Given the description of an element on the screen output the (x, y) to click on. 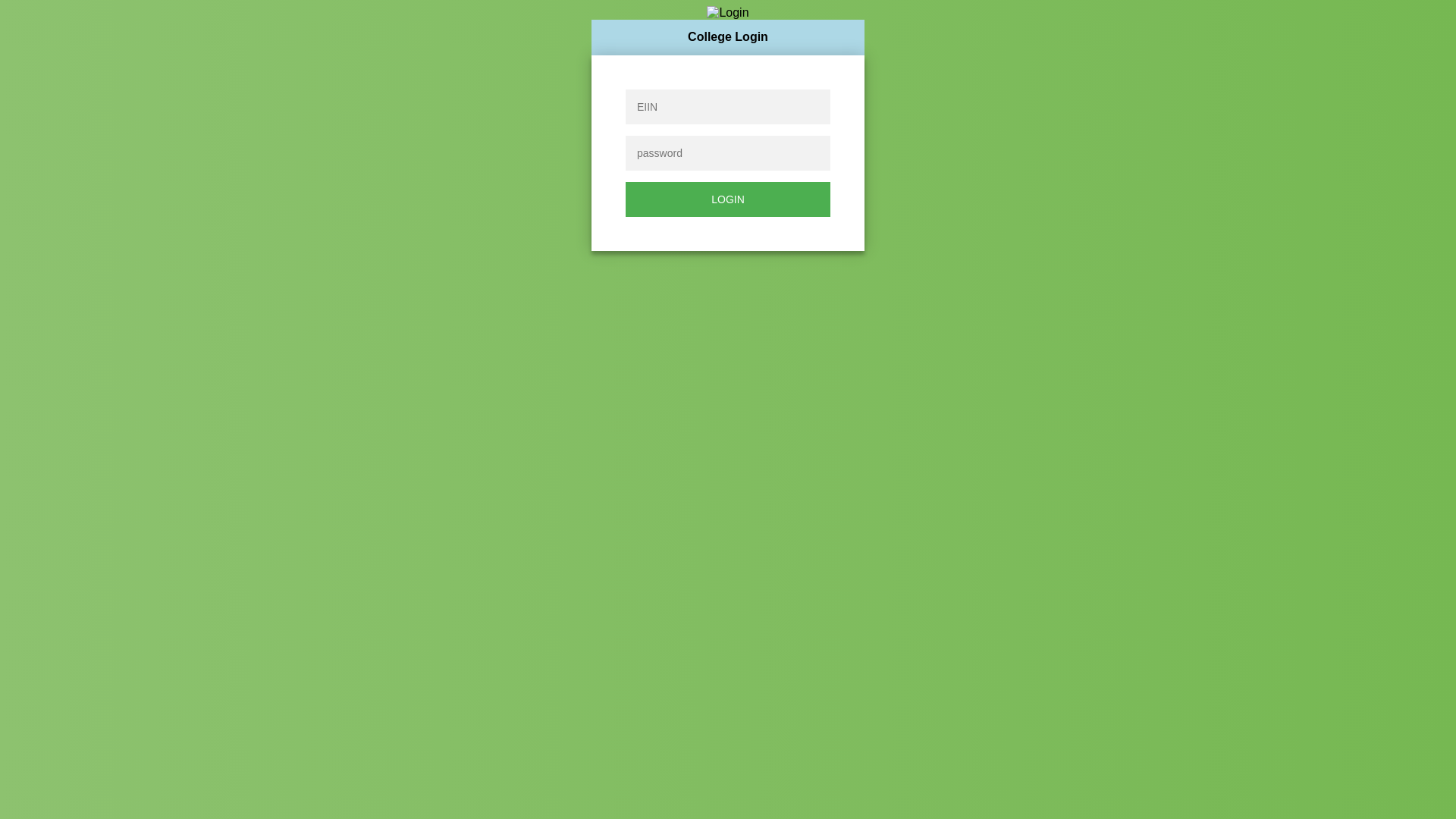
LOGIN Element type: text (727, 199)
